Given the description of an element on the screen output the (x, y) to click on. 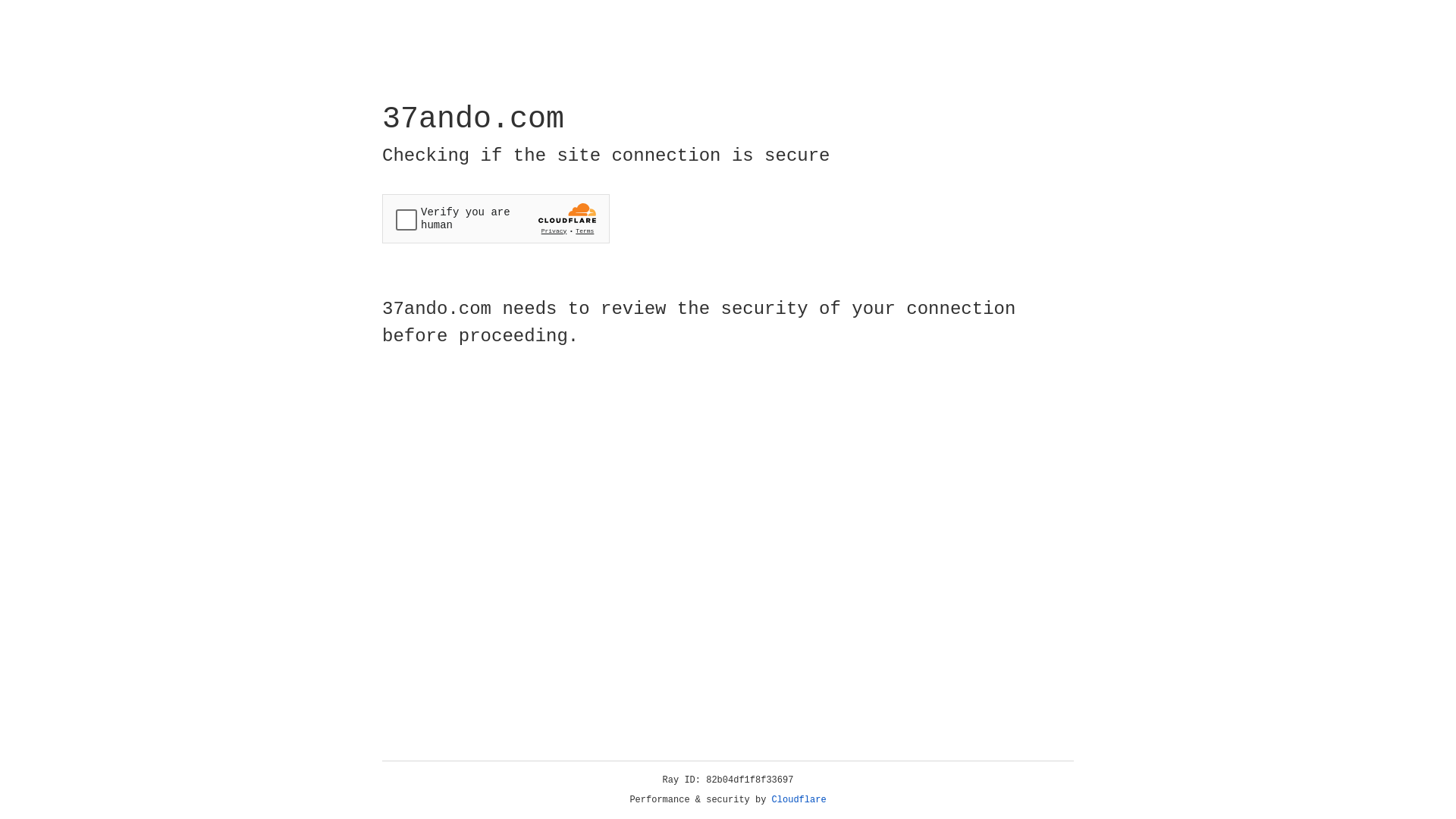
Widget containing a Cloudflare security challenge Element type: hover (495, 218)
Cloudflare Element type: text (798, 799)
